Given the description of an element on the screen output the (x, y) to click on. 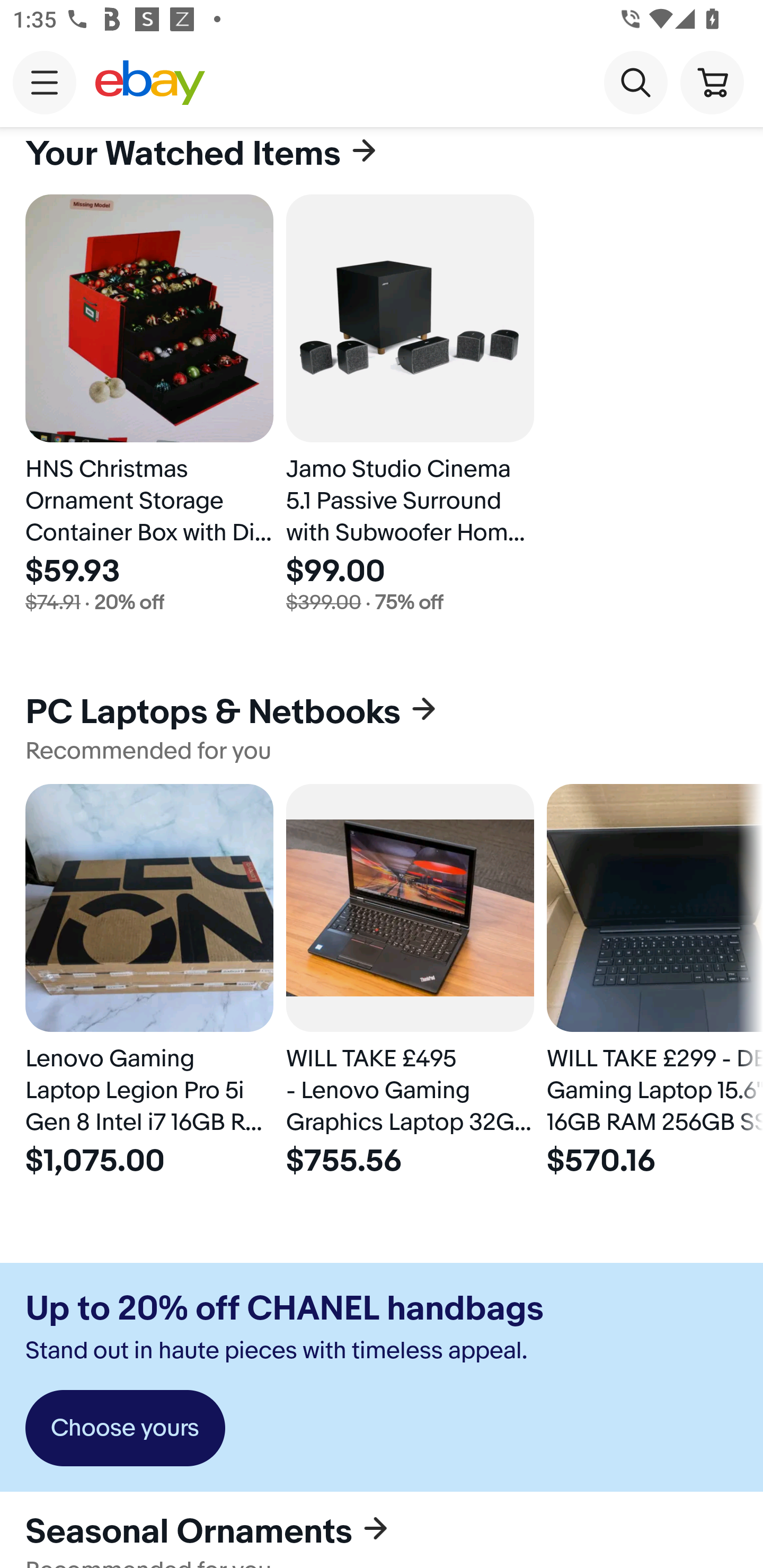
Main navigation, open (44, 82)
Search (635, 81)
Cart button shopping cart (711, 81)
Your Watched Items   (381, 160)
PC Laptops & Netbooks   Recommended for you (381, 728)
Up to 20% off CHANEL handbags (284, 1308)
Choose yours (125, 1427)
Seasonal Ornaments   Recommended for you (381, 1529)
